Given the description of an element on the screen output the (x, y) to click on. 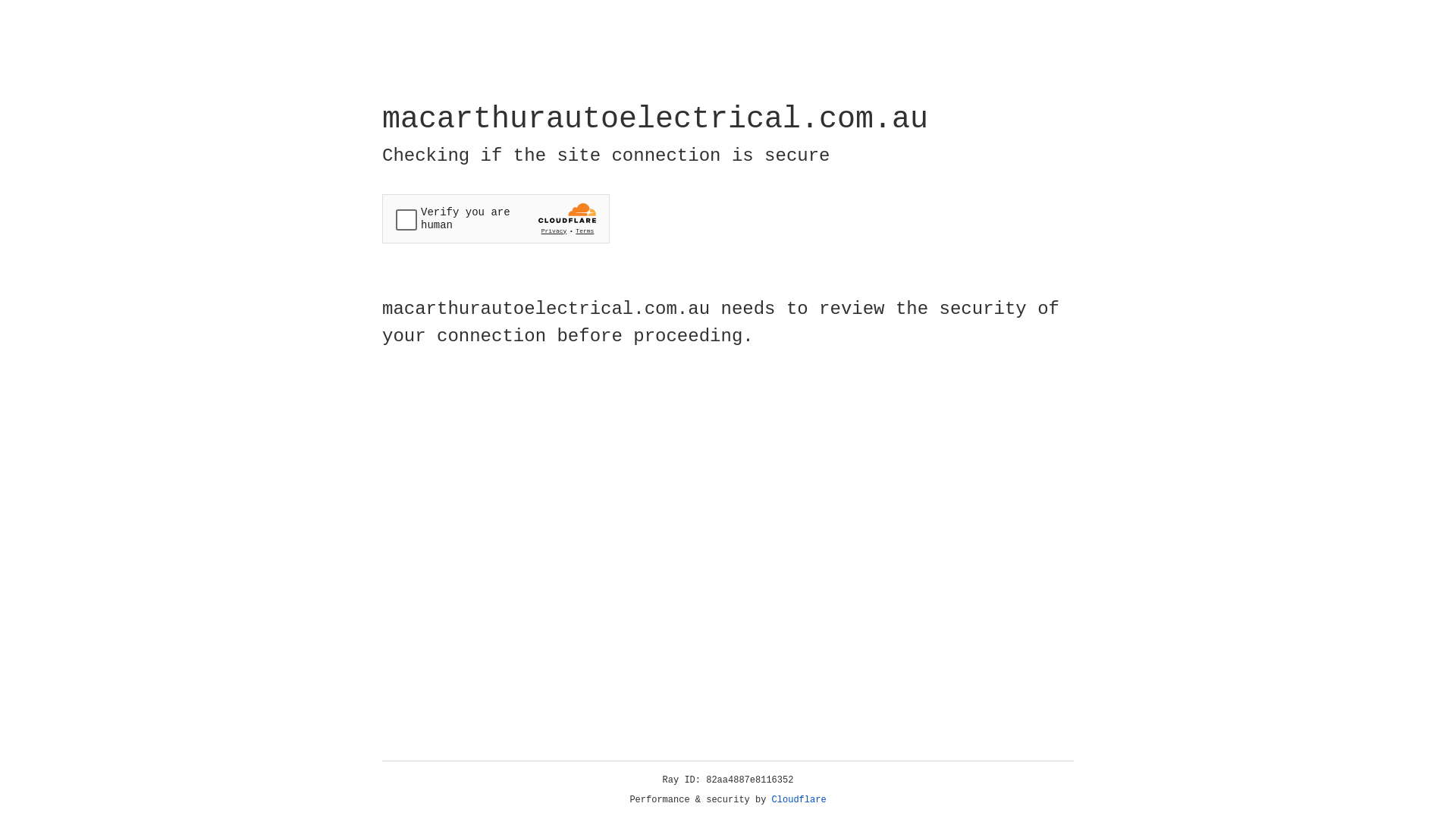
Cloudflare Element type: text (798, 799)
Widget containing a Cloudflare security challenge Element type: hover (495, 218)
